Given the description of an element on the screen output the (x, y) to click on. 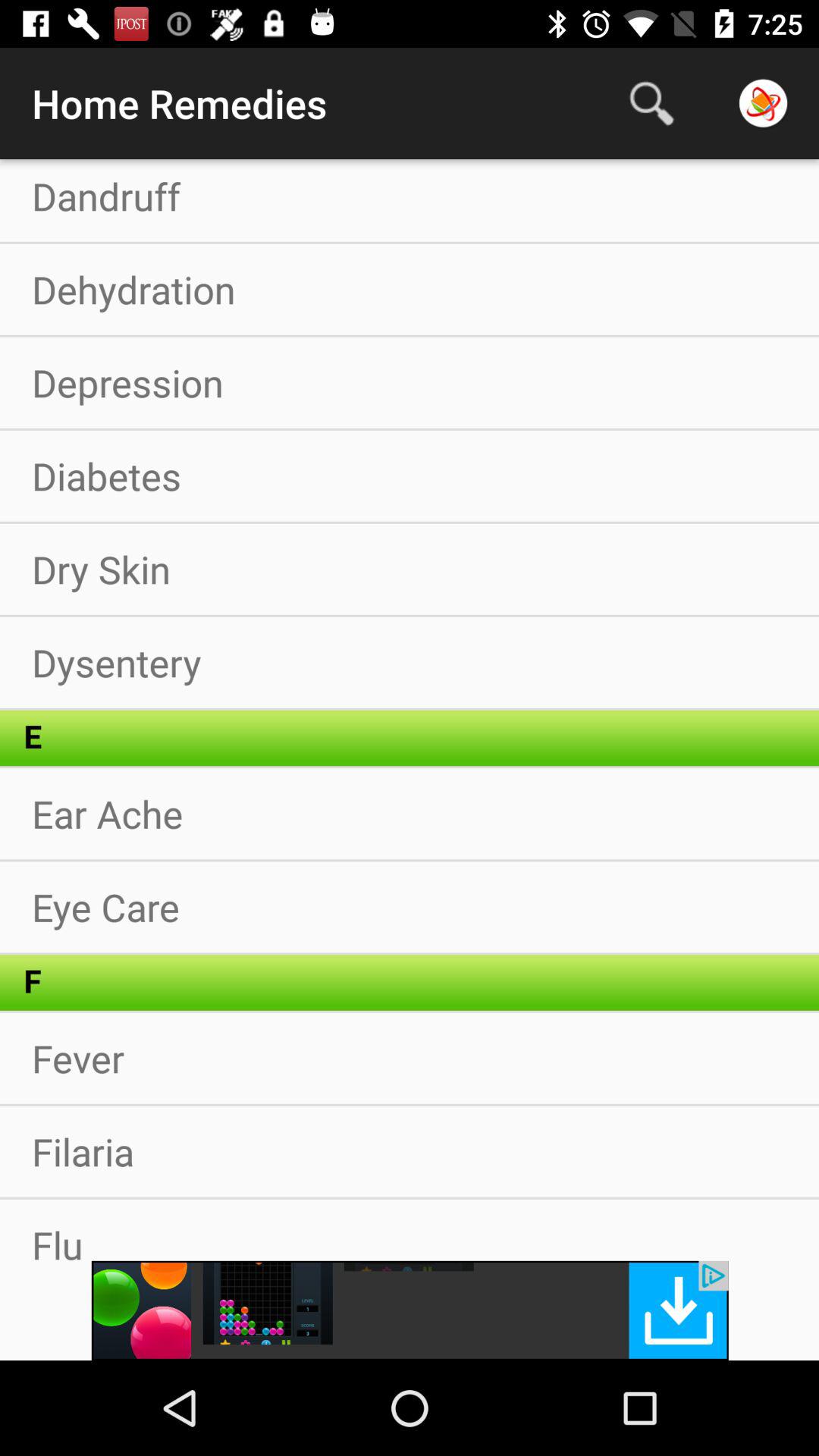
open advertisement (409, 1310)
